Given the description of an element on the screen output the (x, y) to click on. 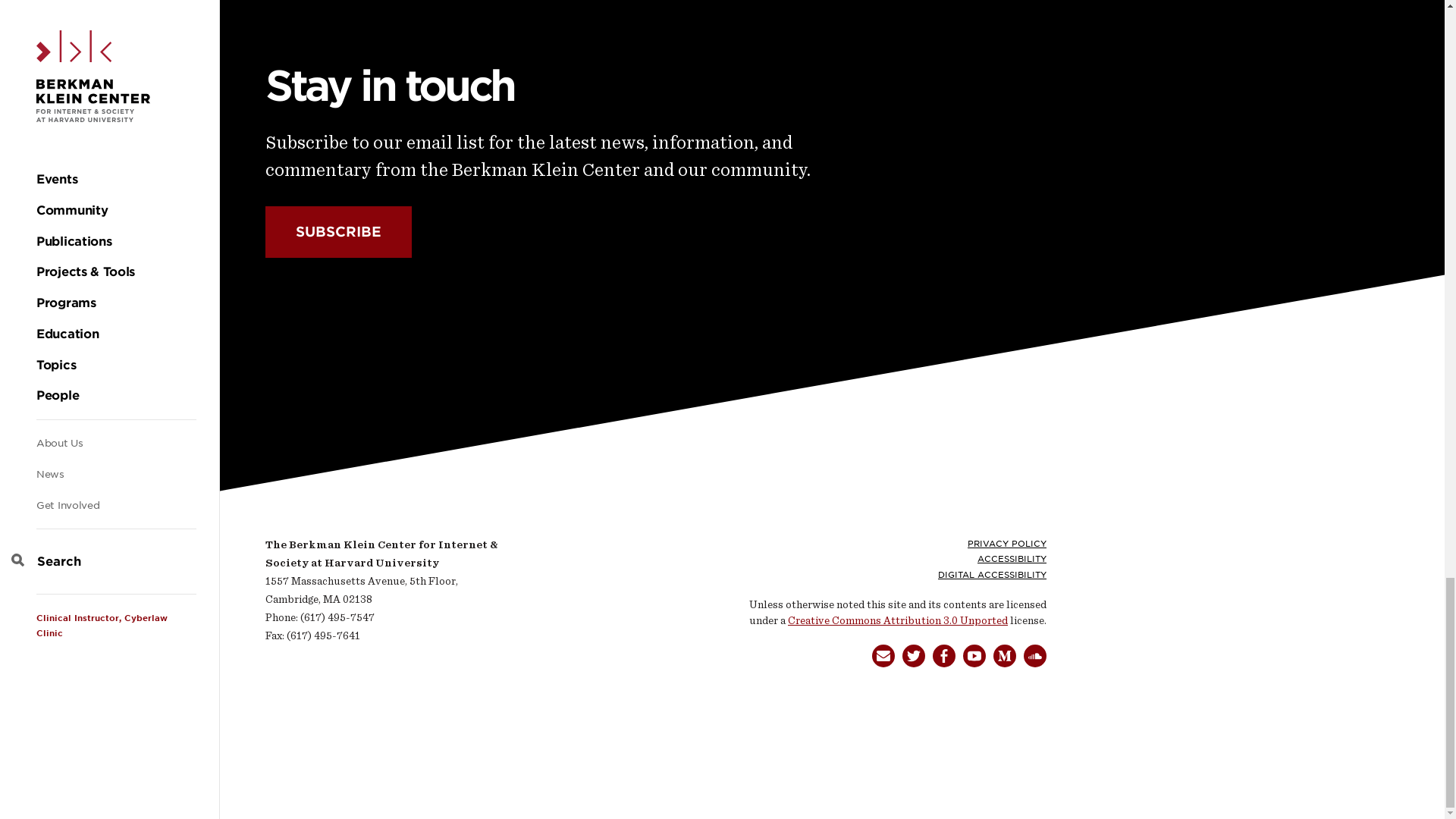
DIGITAL ACCESSIBILITY (991, 574)
Creative Commons Attribution 3.0 Unported (897, 620)
SUBSCRIBE (338, 231)
PRIVACY POLICY (1007, 543)
ACCESSIBILITY (1011, 558)
